Given the description of an element on the screen output the (x, y) to click on. 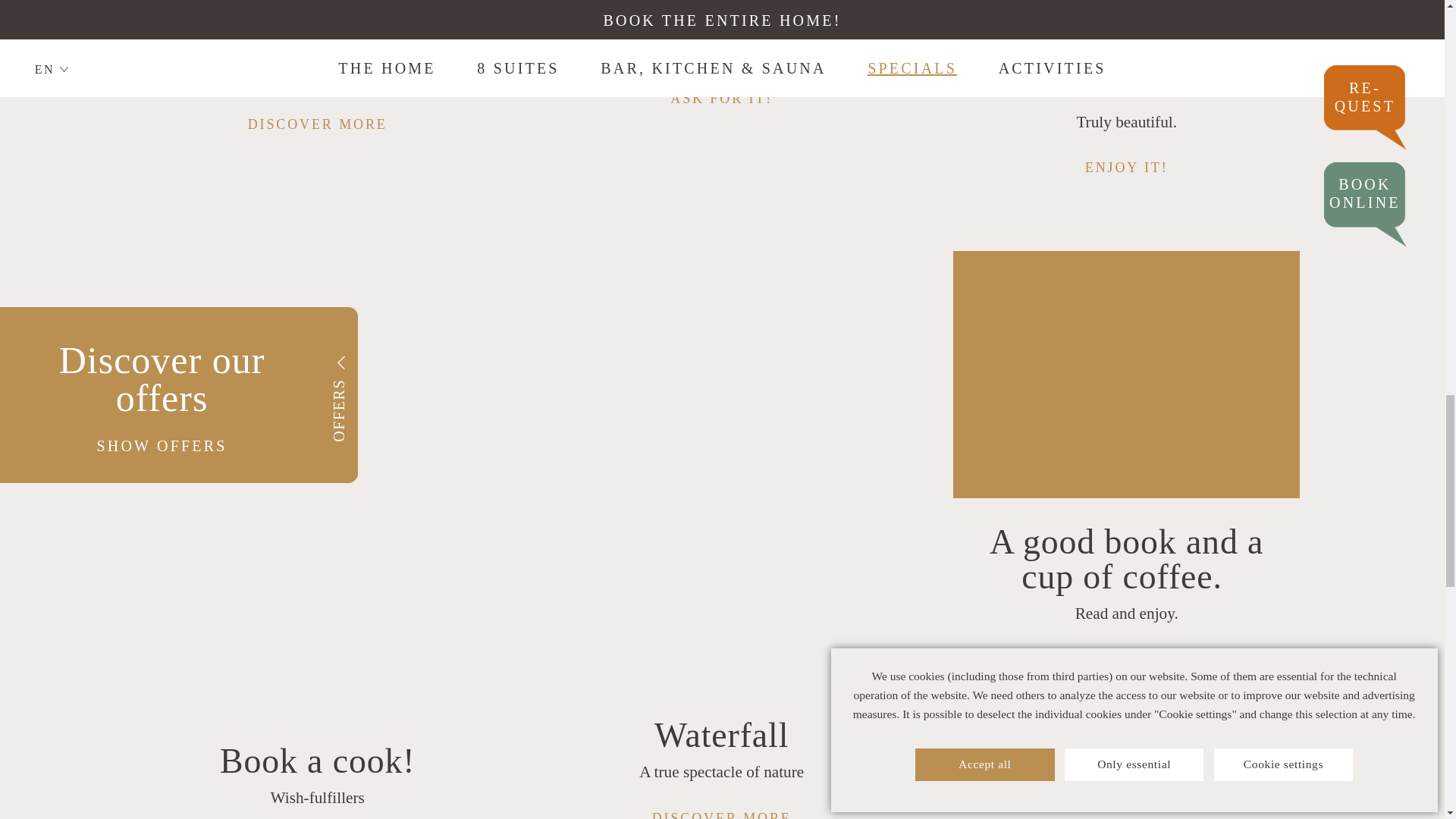
ASK FOR IT! (722, 98)
Waterfall (721, 735)
Mountain views (317, 16)
Welcome Baby! (721, 16)
Discover the Pustertal here (1127, 67)
DISCOVER MORE (317, 124)
ENJOY IT! (1126, 168)
DISCOVER MORE (722, 814)
Book a cook! (316, 760)
